Given the description of an element on the screen output the (x, y) to click on. 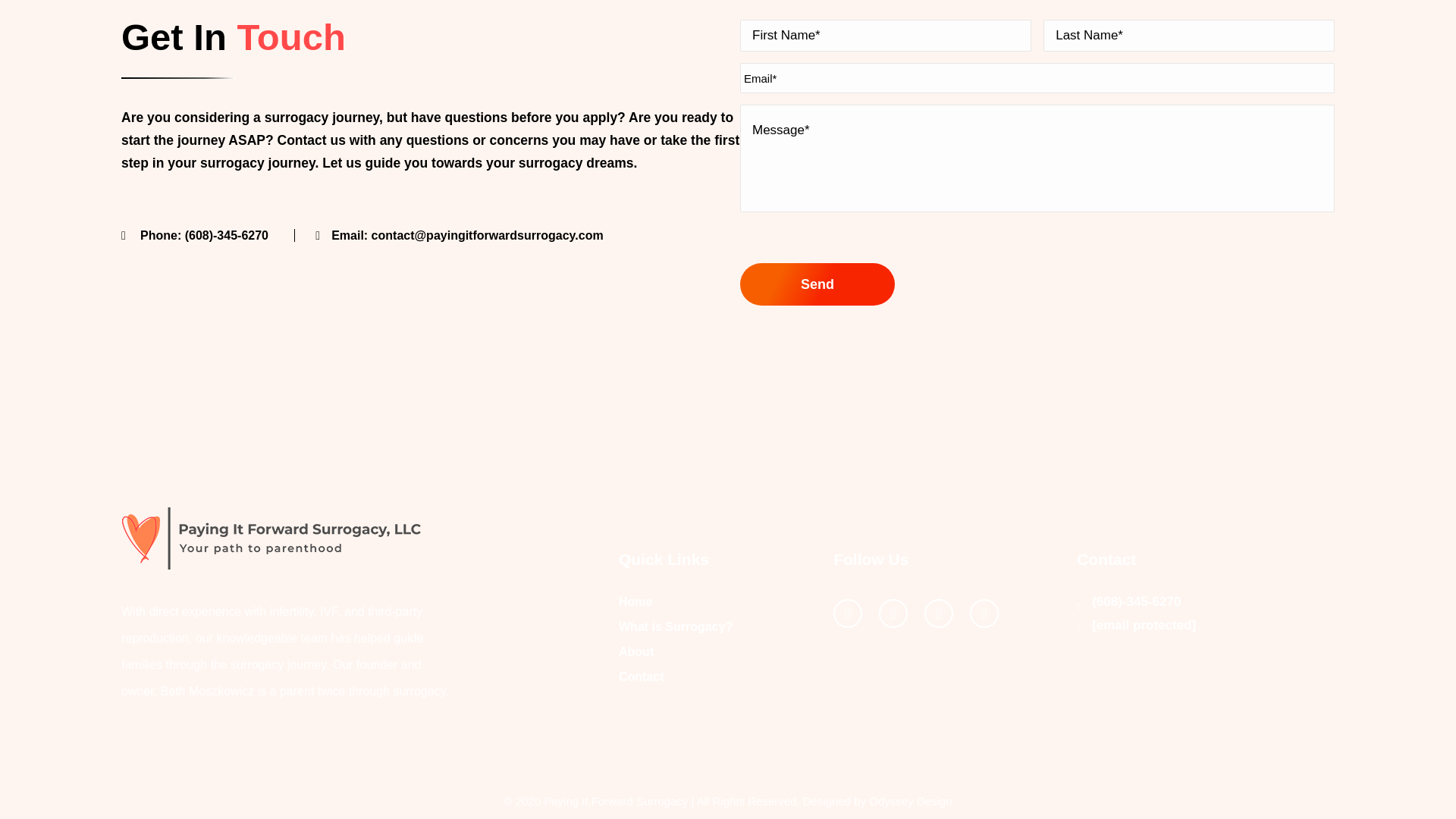
Facebook page opens in new window (846, 613)
Home (635, 601)
About (635, 651)
YouTube page opens in new window (938, 613)
Twitter page opens in new window (893, 613)
Facebook page opens in new window (846, 613)
YouTube page opens in new window (938, 613)
Contact (640, 676)
Send (817, 283)
Odyssey Design (910, 800)
Linkedin page opens in new window (983, 613)
Send (817, 283)
Linkedin page opens in new window (983, 613)
What is Surrogacy? (675, 626)
Twitter page opens in new window (893, 613)
